Given the description of an element on the screen output the (x, y) to click on. 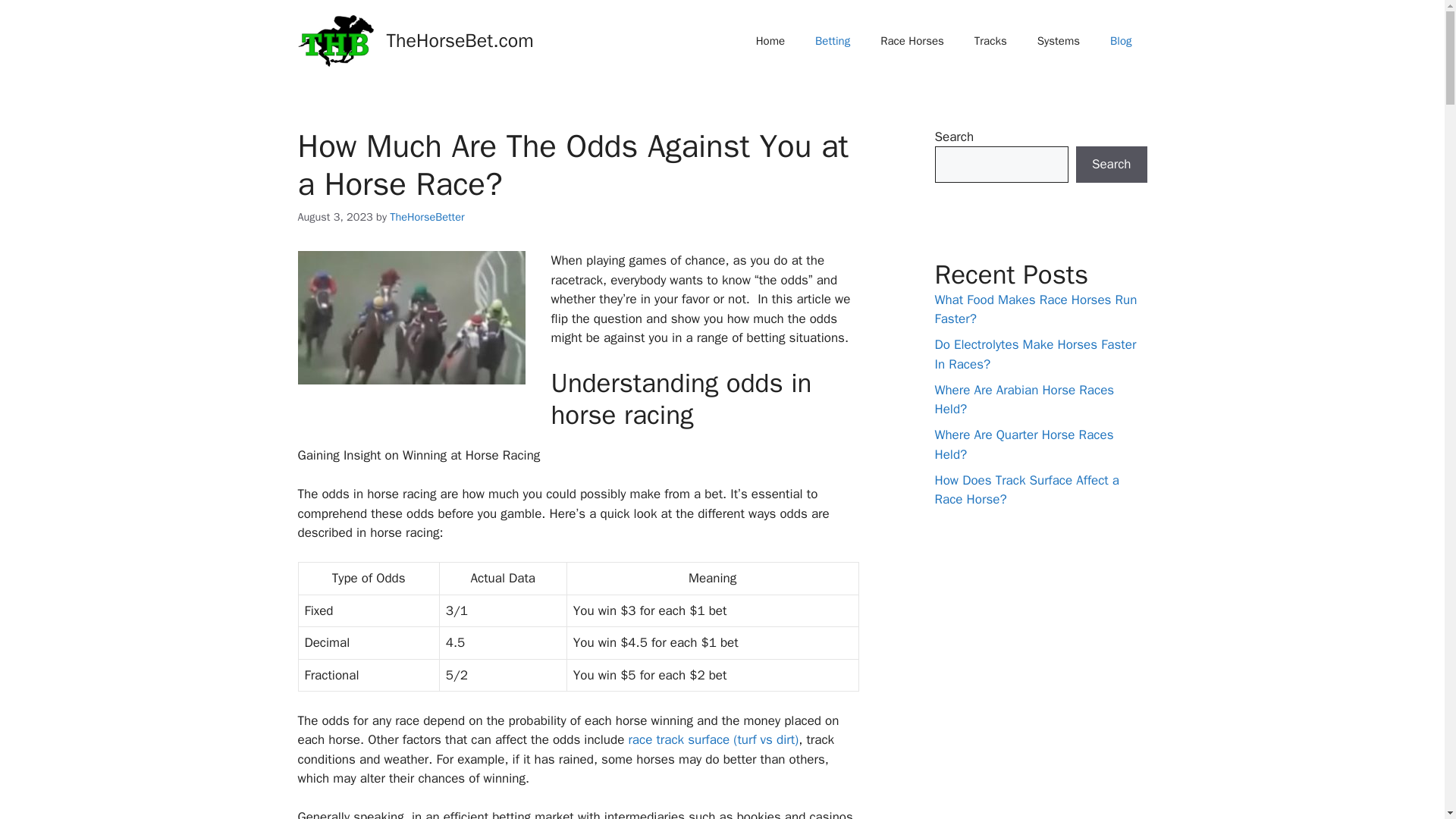
Search (1111, 164)
What Food Makes Race Horses Run Faster? (1035, 309)
How Does Track Surface Affect a Race Horse? (1026, 489)
Systems (1058, 40)
Do Electrolytes Make Horses Faster In Races? (1034, 354)
TheHorseBetter (427, 216)
TheHorseBet.com (460, 40)
View all posts by TheHorseBetter (427, 216)
Home (770, 40)
Betting (831, 40)
